Given the description of an element on the screen output the (x, y) to click on. 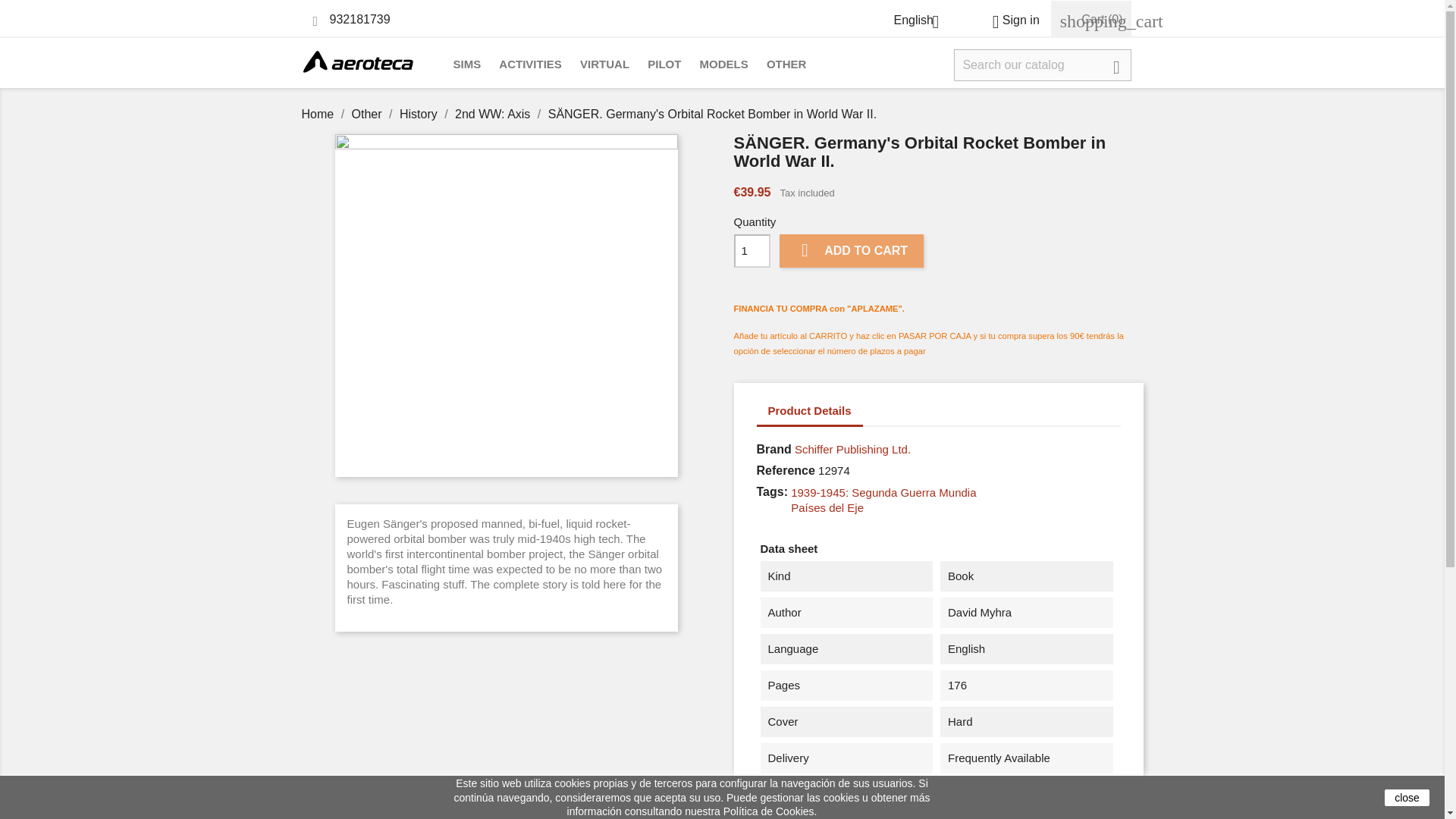
1 (751, 250)
932181739 (360, 19)
PILOT (664, 65)
VIRTUAL (604, 65)
Log in to your customer account (1009, 19)
SIMS (467, 65)
ACTIVITIES (530, 65)
